Given the description of an element on the screen output the (x, y) to click on. 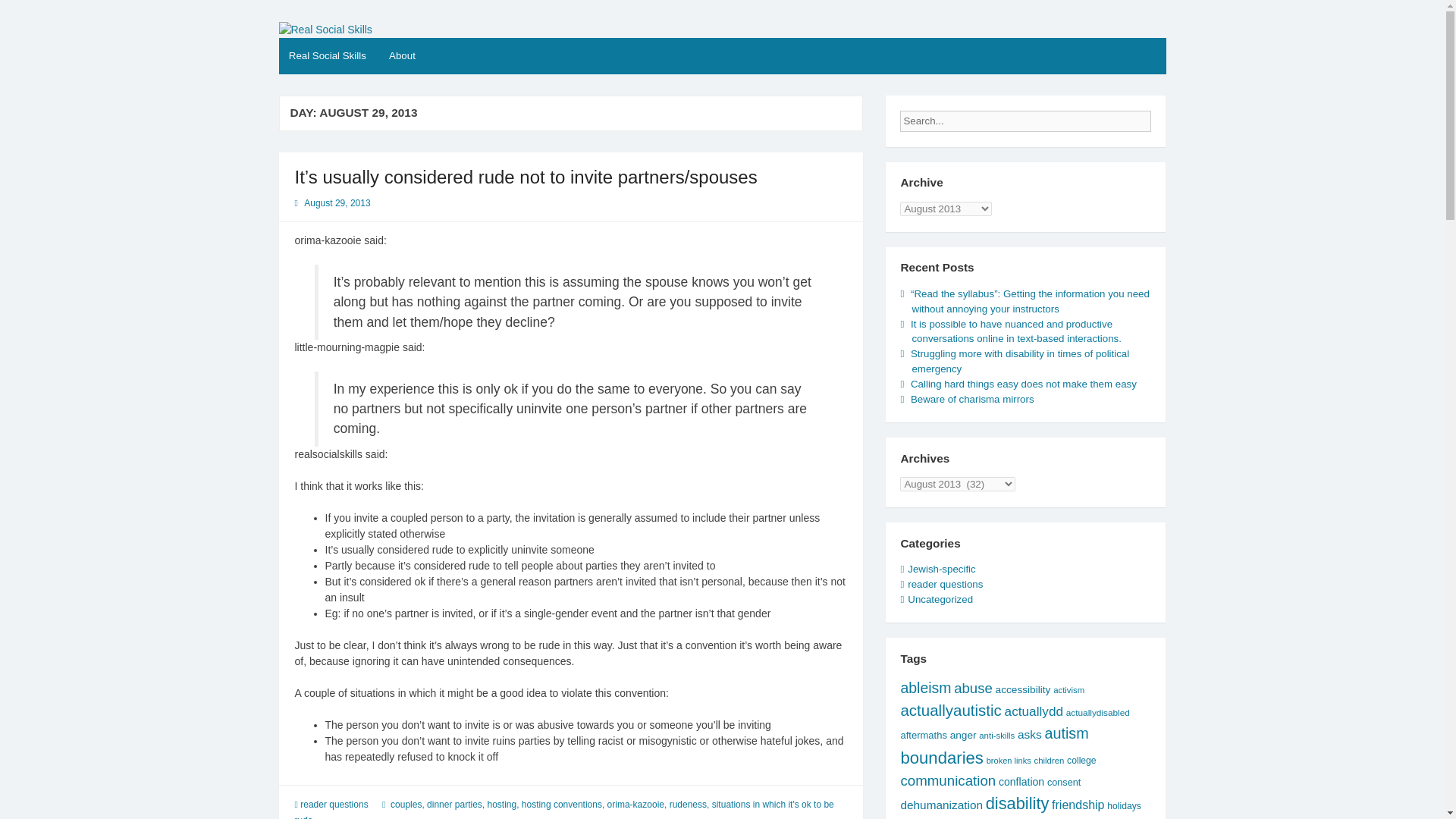
dinner parties (453, 804)
Search (1163, 116)
About (401, 55)
August 29, 2013 (336, 203)
reader questions (333, 804)
hosting (501, 804)
Search (1163, 116)
Real Social Skills (328, 55)
rudeness (687, 804)
couples (406, 804)
